Given the description of an element on the screen output the (x, y) to click on. 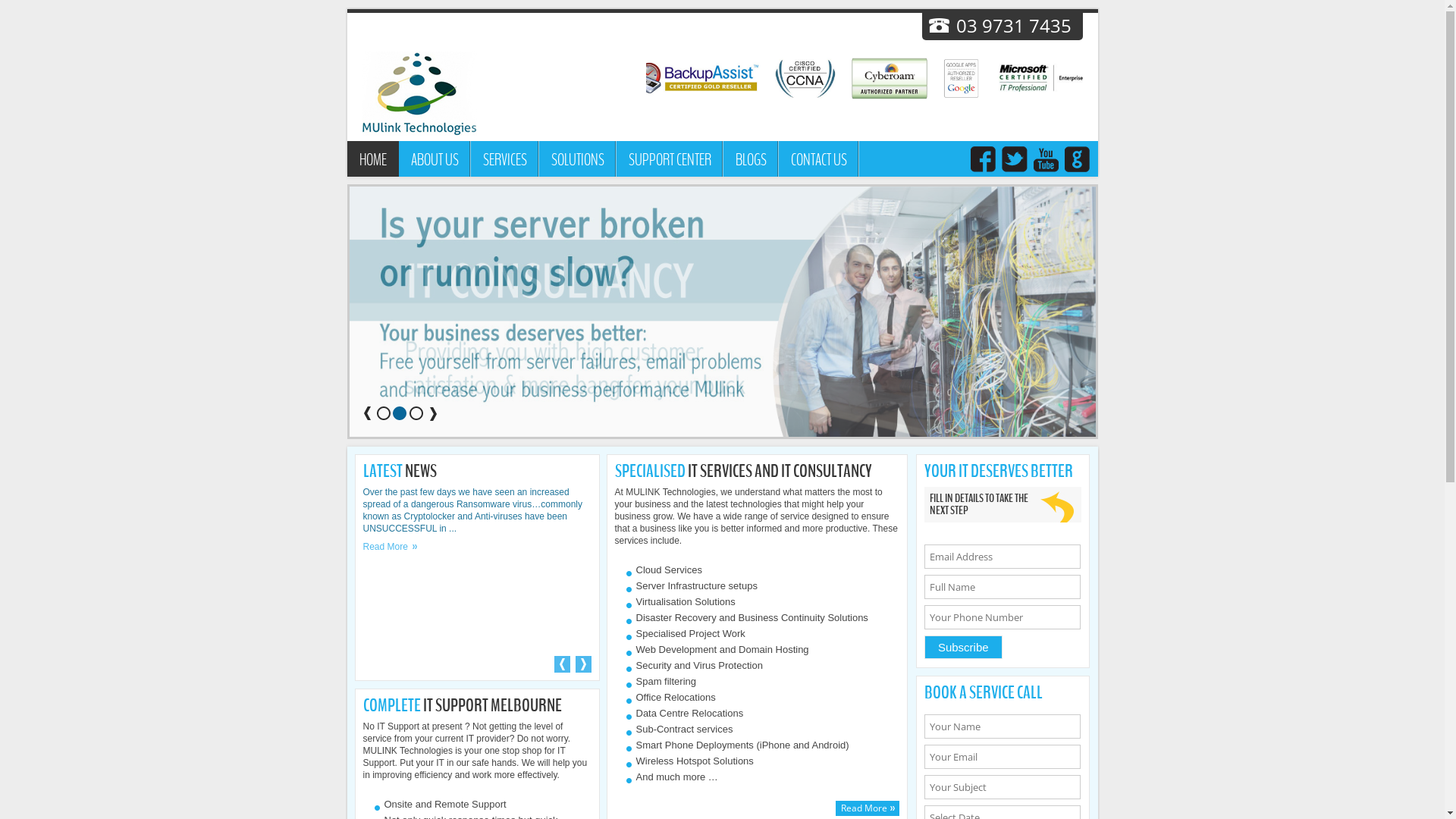
Youtube Element type: hover (1045, 160)
HOME Element type: text (372, 158)
1 Element type: text (383, 413)
ABOUT US Element type: text (434, 158)
SERVICES Element type: text (504, 158)
Mulink Technologies Element type: hover (419, 96)
Twitter Element type: hover (1013, 160)
microsoft_certified_it_professional Element type: hover (1073, 78)
Read More Element type: text (867, 807)
3 Element type: text (414, 413)
hello Element type: hover (722, 311)
SUPPORT CENTER Element type: text (668, 158)
cyberoam_authorized_partner Element type: hover (905, 78)
Facebook Element type: hover (983, 160)
cisco_certified_ccna Element type: hover (822, 78)
backup_assist_certified_gold_reseller Element type: hover (713, 78)
Google + Element type: hover (1075, 160)
Subscribe Element type: text (962, 646)
Skip to content Element type: text (771, 146)
CONTACT US Element type: text (818, 158)
Mulink Technologies Element type: hover (419, 93)
SOLUTIONS Element type: text (576, 158)
google_apps_authorized_reseller_google Element type: hover (977, 78)
2 Element type: text (399, 413)
Read More Element type: text (389, 546)
BLOGS Element type: text (750, 158)
